Given the description of an element on the screen output the (x, y) to click on. 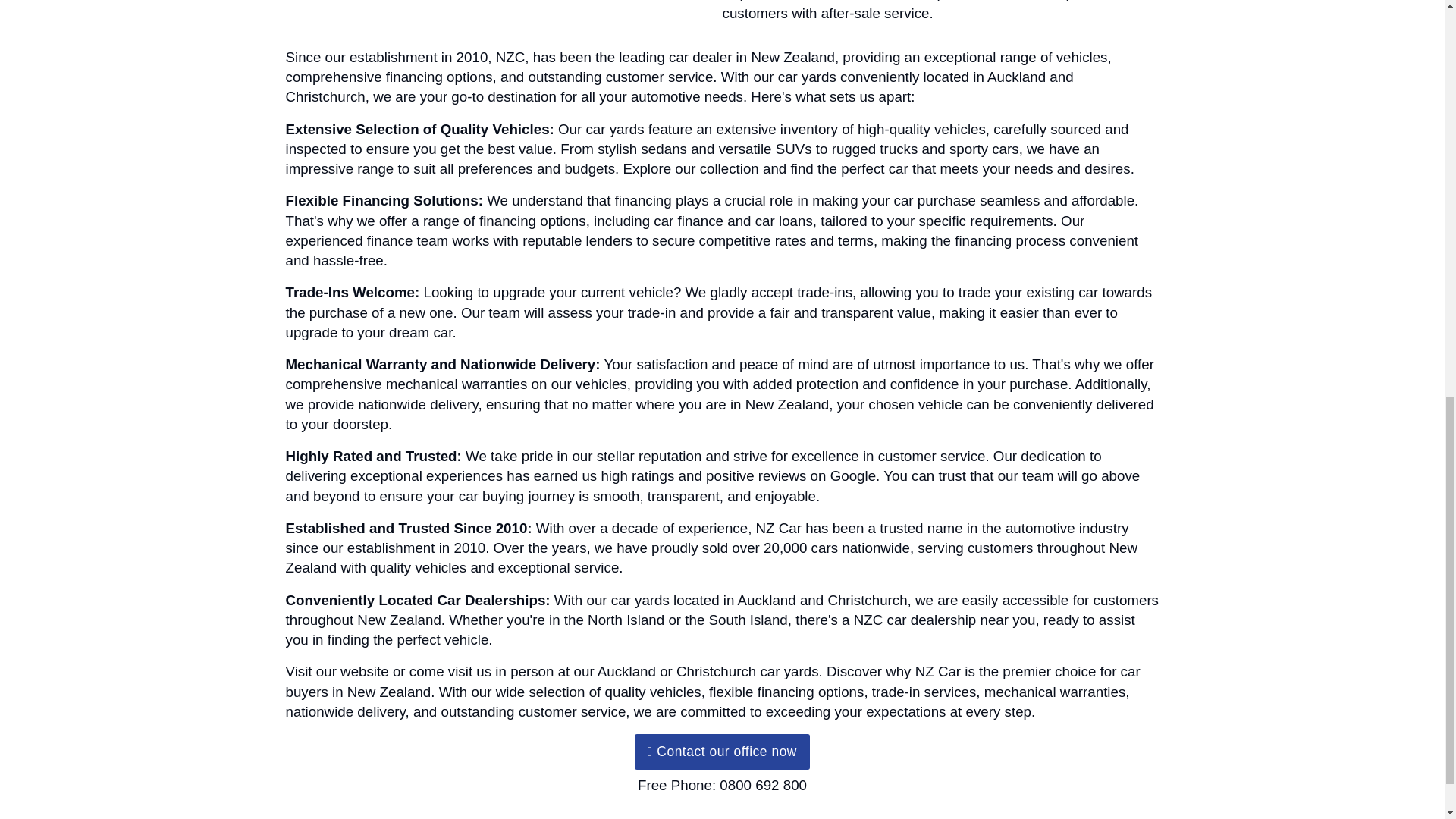
Contact our office now (721, 751)
